Given the description of an element on the screen output the (x, y) to click on. 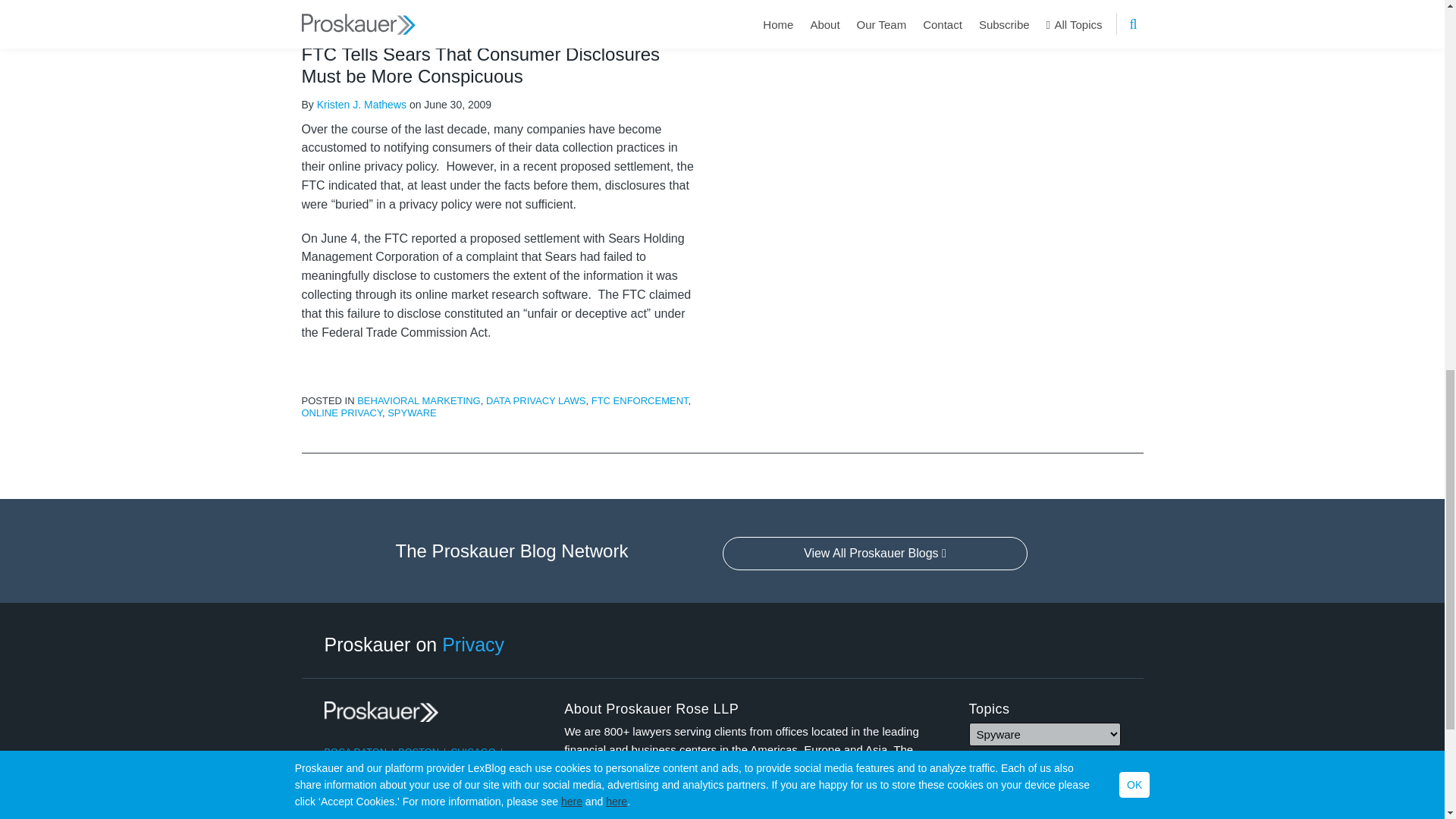
Kristen J. Mathews (361, 104)
Proskauer on Privacy (414, 643)
SPYWARE (411, 412)
FTC ENFORCEMENT (639, 400)
View All Proskauer Blogs (874, 553)
DATA PRIVACY LAWS (535, 400)
BOSTON (418, 751)
ONLINE PRIVACY (341, 412)
BEHAVIORAL MARKETING (418, 400)
BOCA RATON (355, 751)
